Given the description of an element on the screen output the (x, y) to click on. 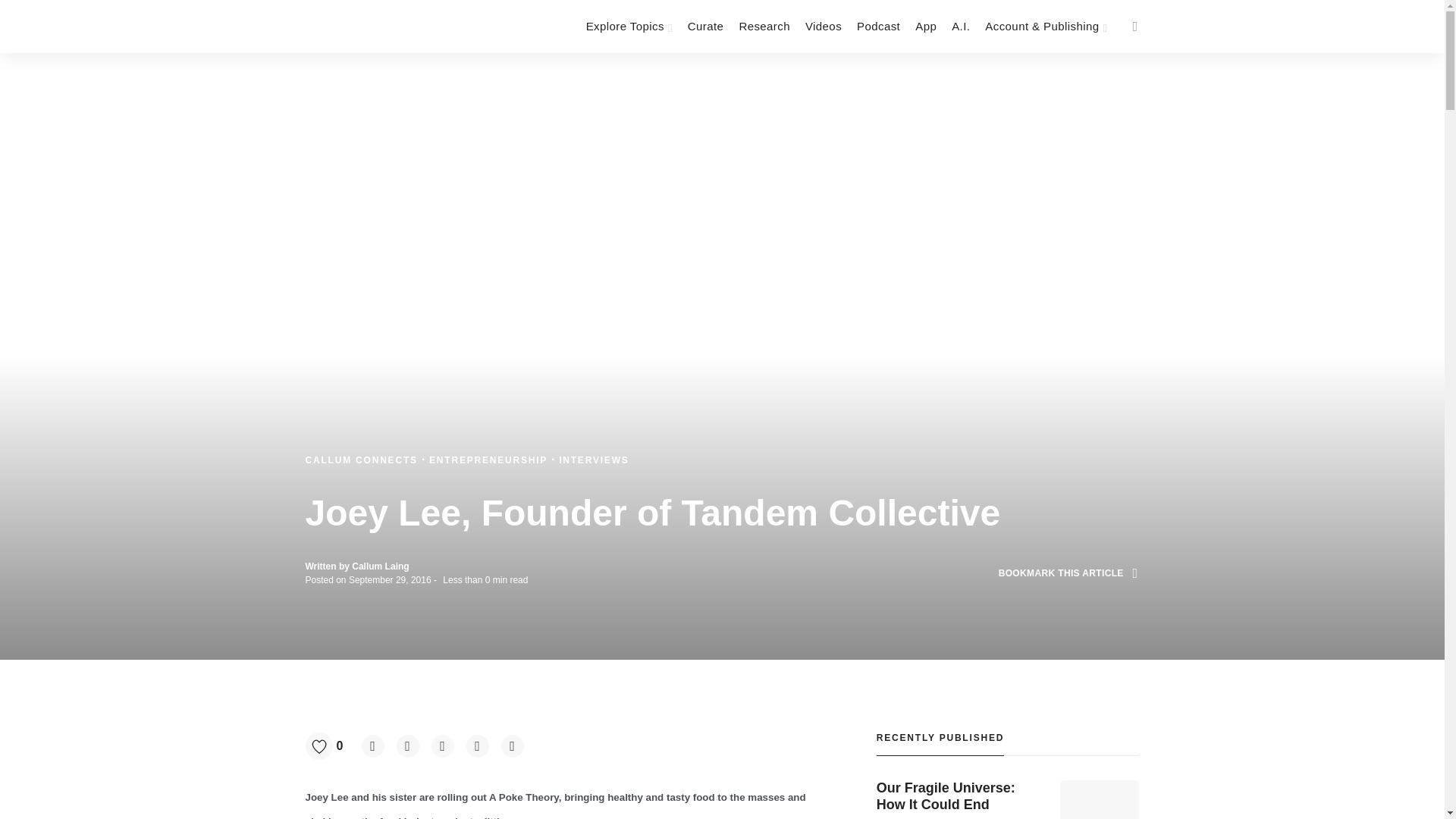
Research (763, 26)
0 (329, 746)
Curate (705, 26)
CALLUM CONNECTS (362, 460)
BOOKMARK THIS ARTICLE (1068, 573)
Research (763, 26)
App (925, 26)
A.I. (959, 26)
INTERVIEWS (593, 460)
